Given the description of an element on the screen output the (x, y) to click on. 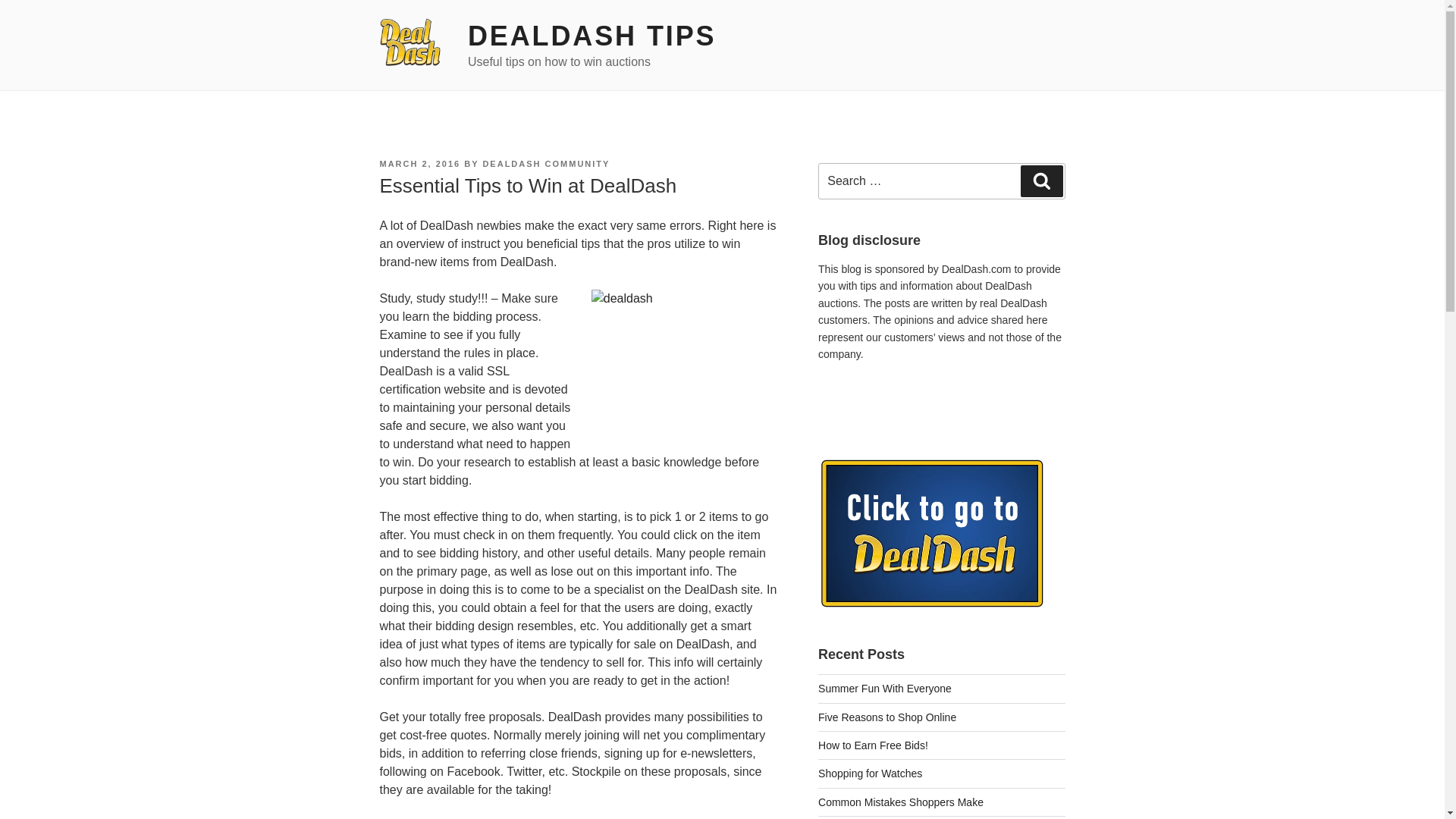
MARCH 2, 2016 (419, 163)
How to Earn Free Bids! (873, 745)
Search (1041, 181)
Shopping for Watches (869, 773)
Five Reasons to Shop Online (887, 717)
DEALDASH COMMUNITY (545, 163)
DEALDASH TIPS (591, 35)
Summer Fun With Everyone (885, 688)
Common Mistakes Shoppers Make (901, 802)
